Given the description of an element on the screen output the (x, y) to click on. 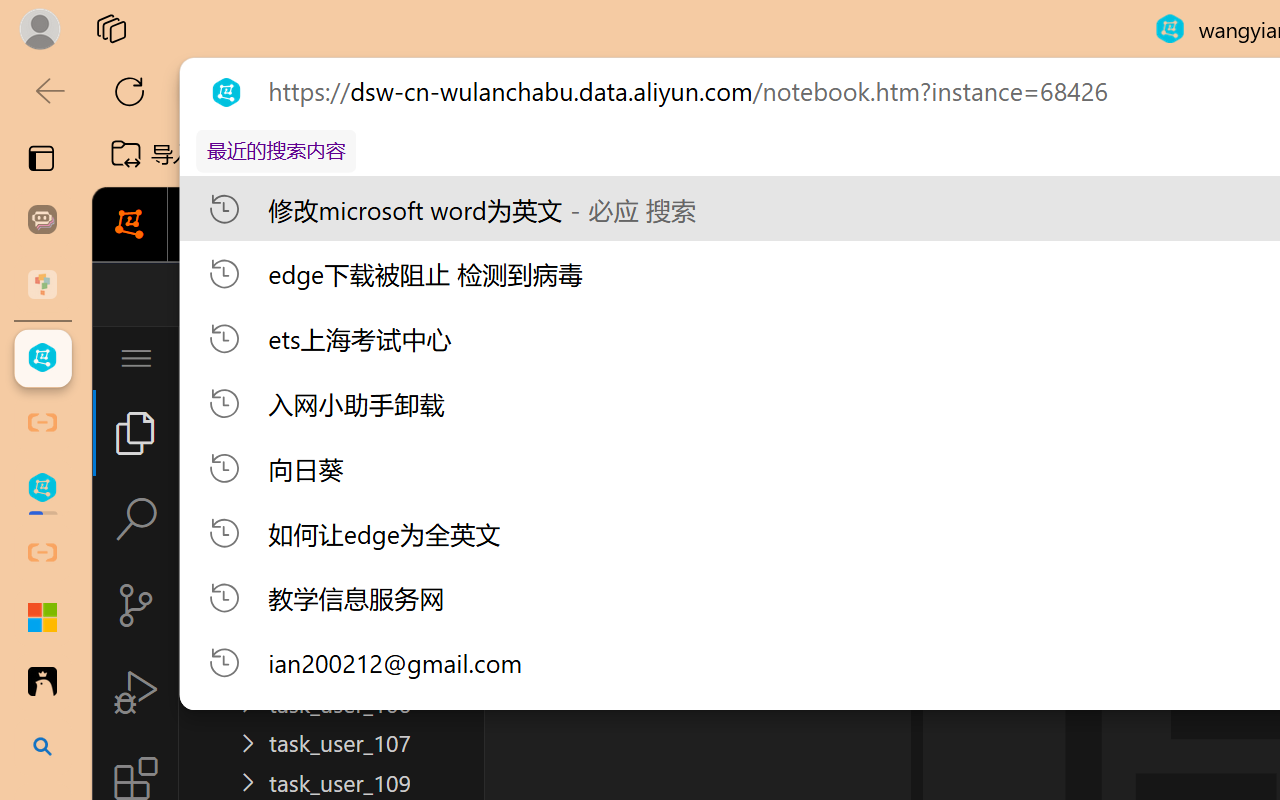
Wikipedia, the free encyclopedia (437, 154)
Source Control (Ctrl+Shift+G) (135, 604)
Application Menu (135, 358)
WebIDE (854, 225)
